Given the description of an element on the screen output the (x, y) to click on. 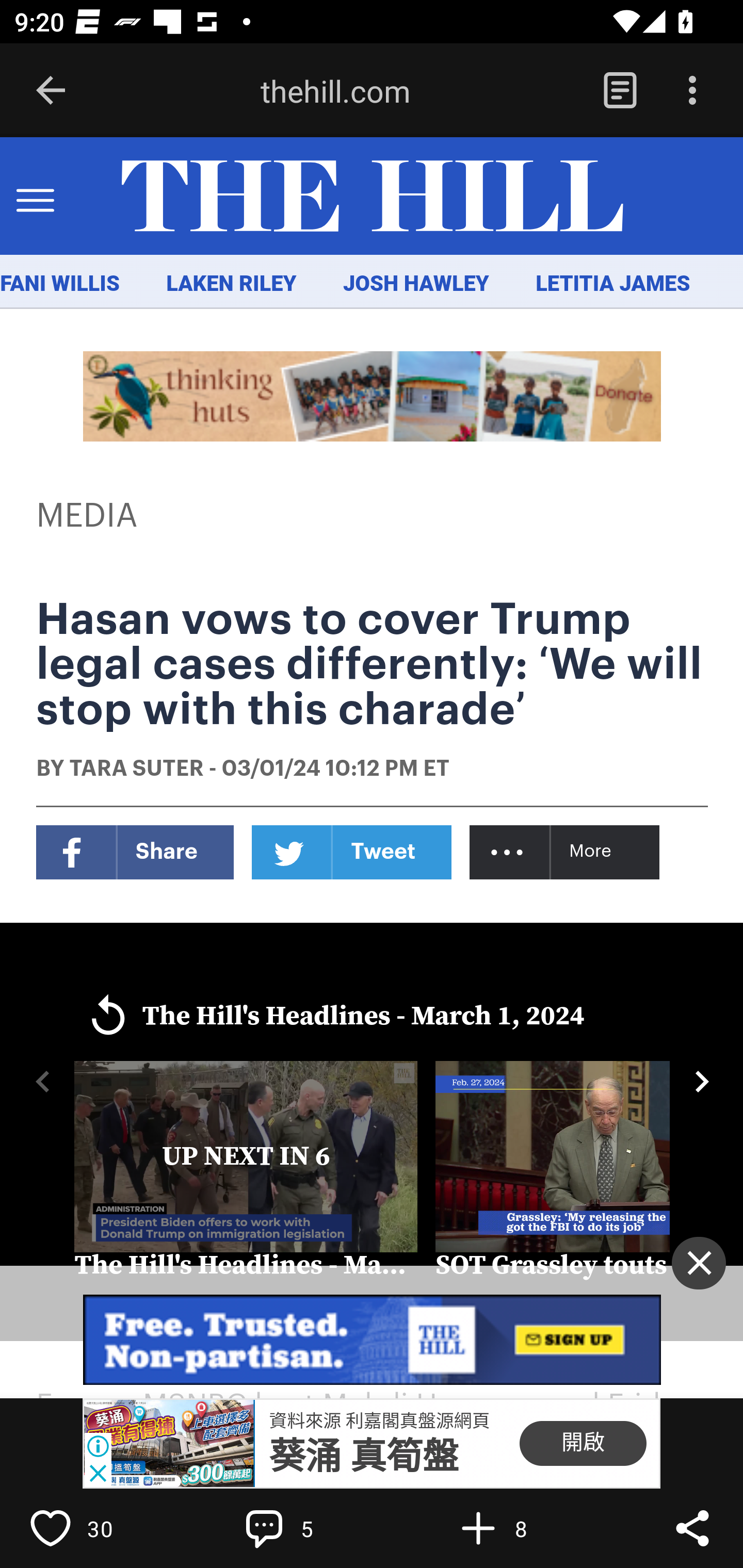
Back (50, 90)
Reader View (619, 90)
Options (692, 90)
Toggle Menu (34, 196)
TheHill.com (371, 196)
FANI WILLIS (60, 284)
LAKEN RILEY (231, 284)
JOSH HAWLEY (414, 284)
LETITIA JAMES (612, 284)
Advertisement (372, 395)
MEDIA (87, 516)
TARA SUTER (135, 769)
Facebook Share Facebook Share (135, 852)
Twitter Tweet Twitter Tweet (352, 852)
... More (565, 852)
✕ (699, 1262)
signup (372, 1339)
B29955179 (168, 1443)
資料來源 利嘉閣真盤源網頁 (379, 1420)
開啟 (582, 1443)
葵涌 真筍盤 (363, 1456)
Like 30 (93, 1528)
Write a comment… 5 (307, 1528)
Flip into Magazine 8 (521, 1528)
Share (692, 1528)
